Given the description of an element on the screen output the (x, y) to click on. 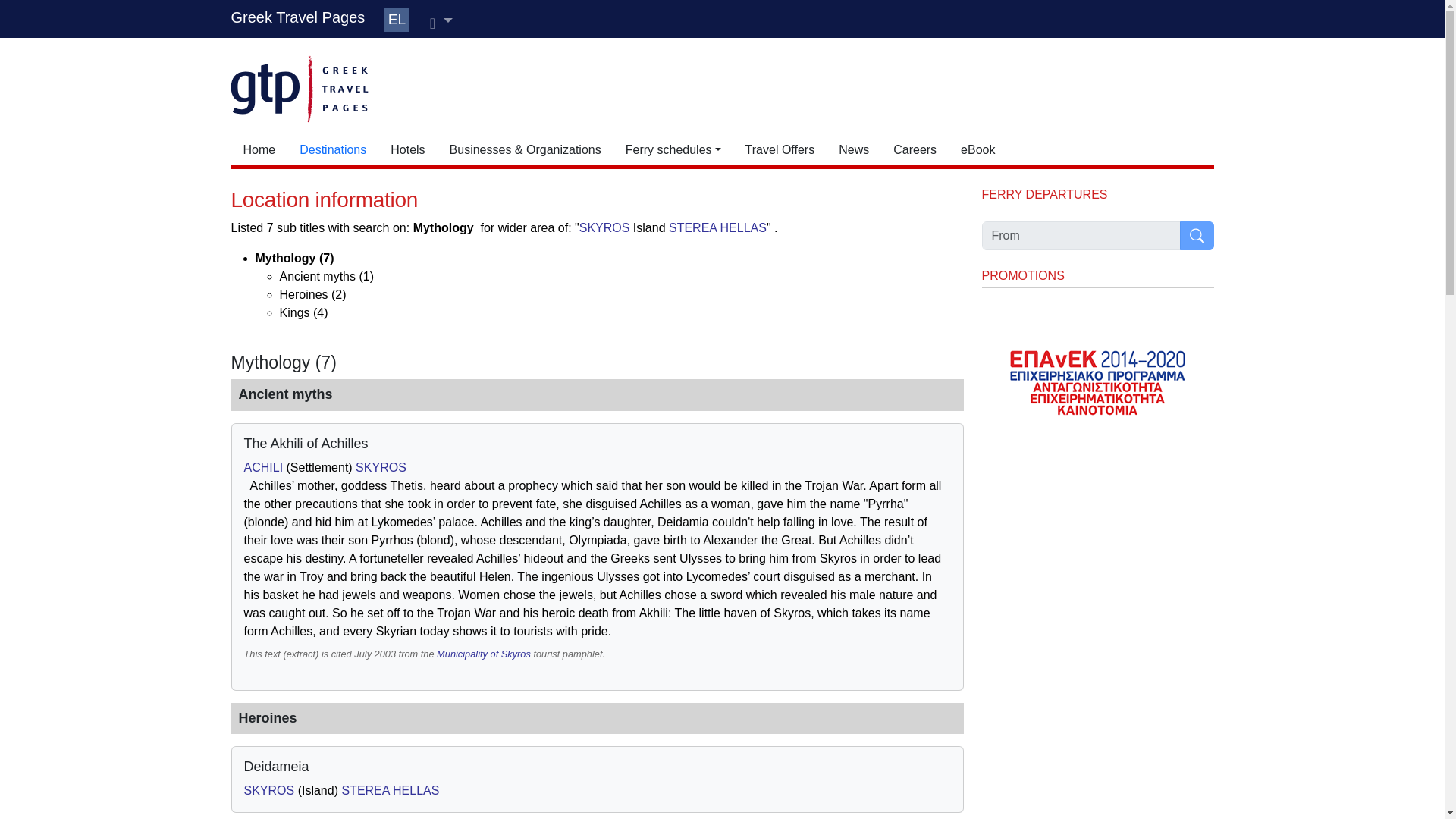
Home (258, 150)
User menu (440, 21)
Hotels (407, 150)
3rd party ad content (772, 87)
Destinations (332, 150)
EL (396, 19)
Greek Travel Pages (297, 16)
Ferry schedules (672, 150)
